Given the description of an element on the screen output the (x, y) to click on. 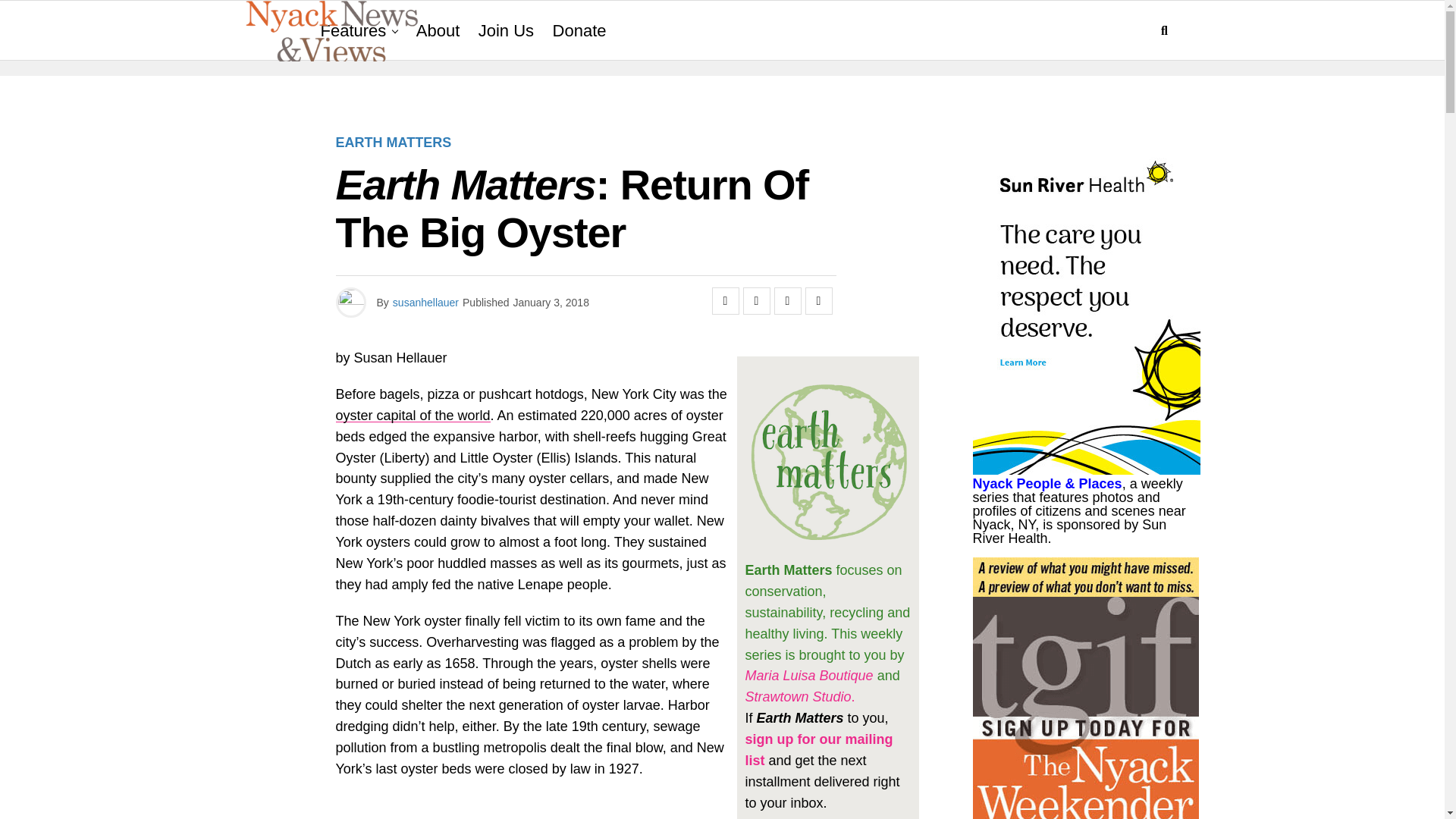
Strawtown Studio. (799, 696)
Maria Luisa Boutique (808, 675)
Posts by susanhellauer (425, 302)
About (438, 30)
Features (353, 30)
Share on Facebook (724, 300)
EARTH MATTERS (392, 142)
Join Us (505, 30)
Donate (579, 30)
susanhellauer (425, 302)
